Given the description of an element on the screen output the (x, y) to click on. 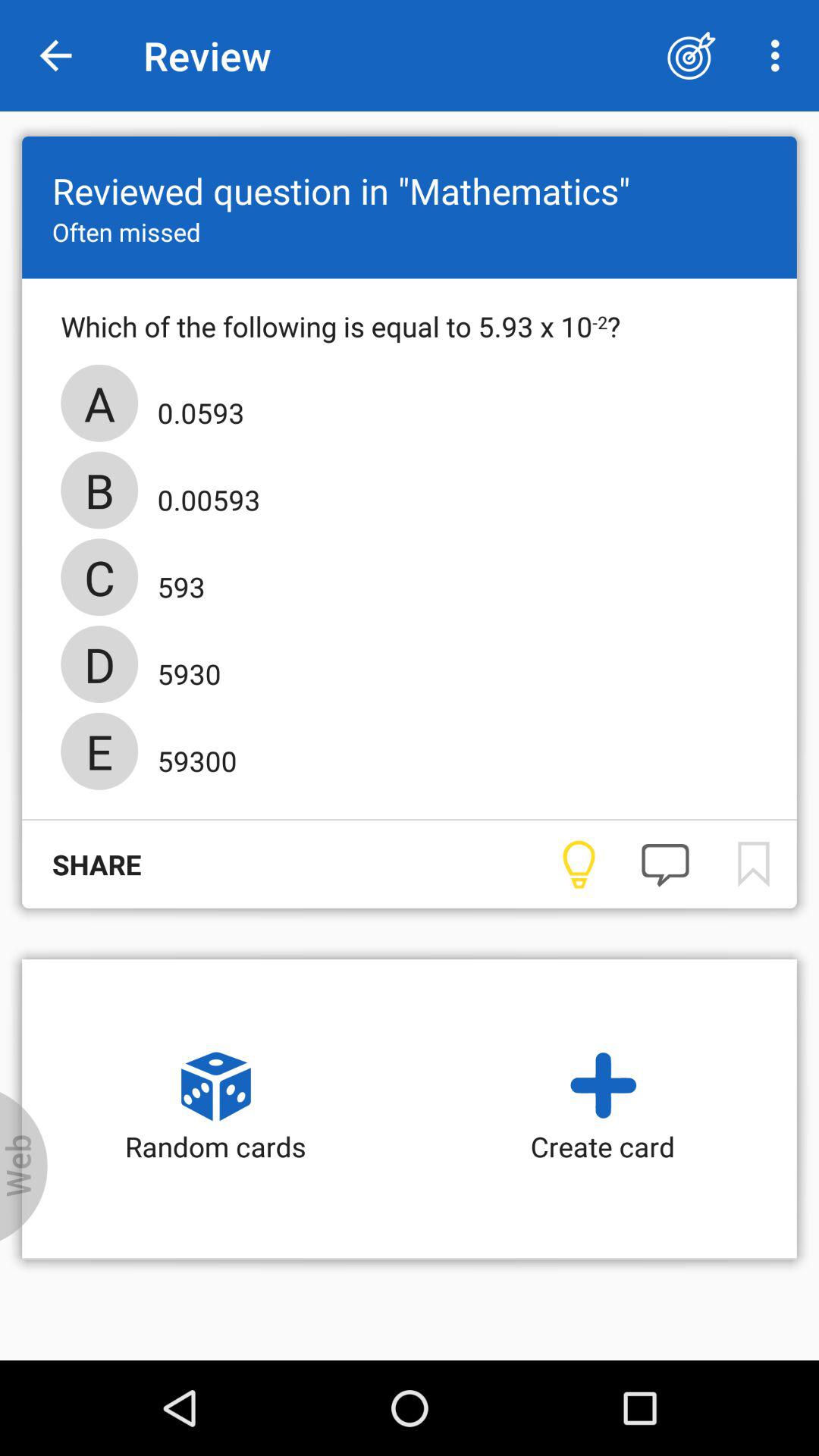
open item below the c item (184, 668)
